Given the description of an element on the screen output the (x, y) to click on. 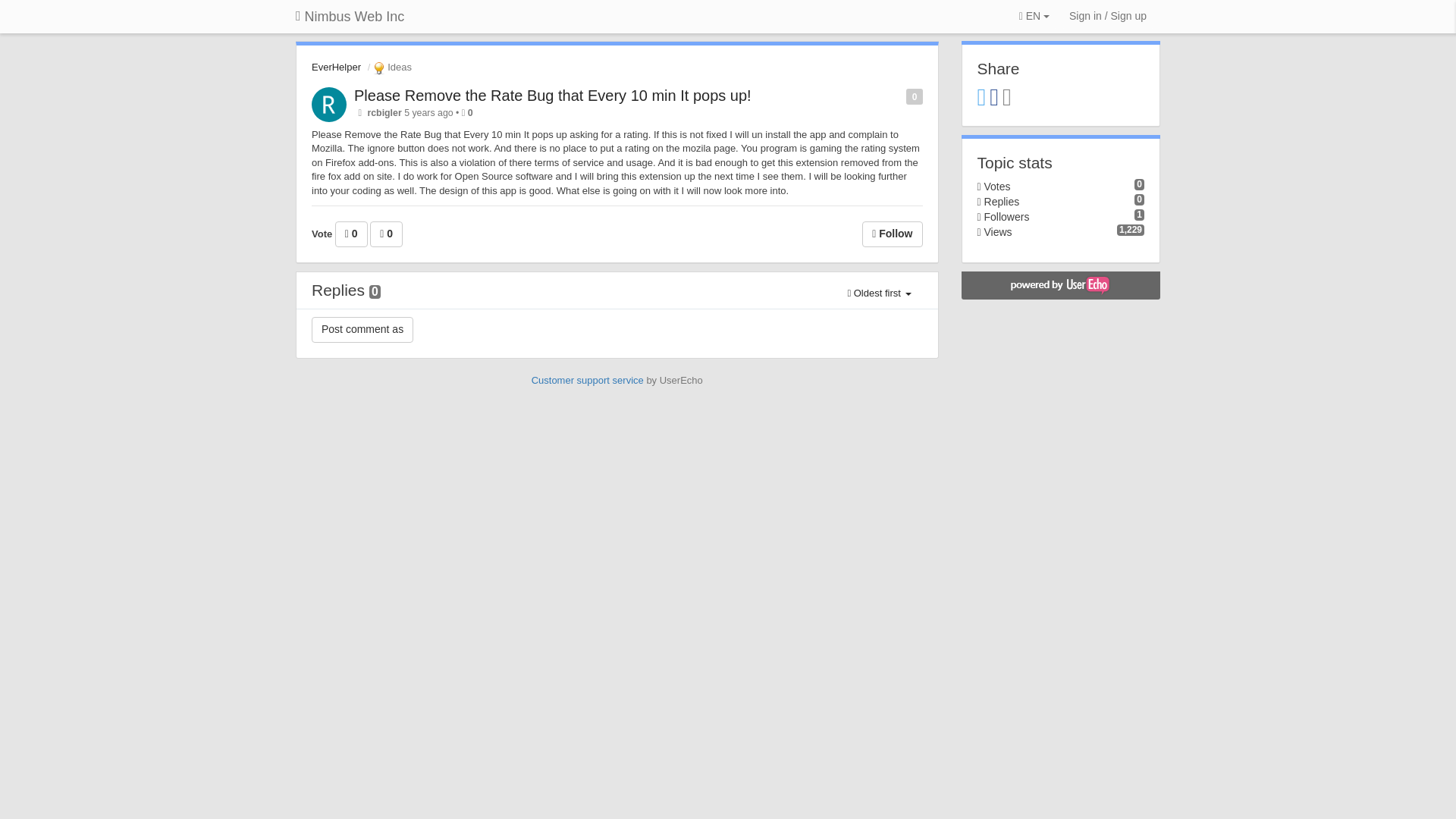
Please Remove the Rate Bug that Every 10 min It pops up! (552, 95)
Follow (891, 234)
EN (1034, 16)
0 (351, 234)
Post comment as (362, 329)
Nimbus Web Inc (348, 16)
EverHelper (336, 66)
rcbigler (383, 112)
0 (386, 234)
Ideas (390, 66)
